Given the description of an element on the screen output the (x, y) to click on. 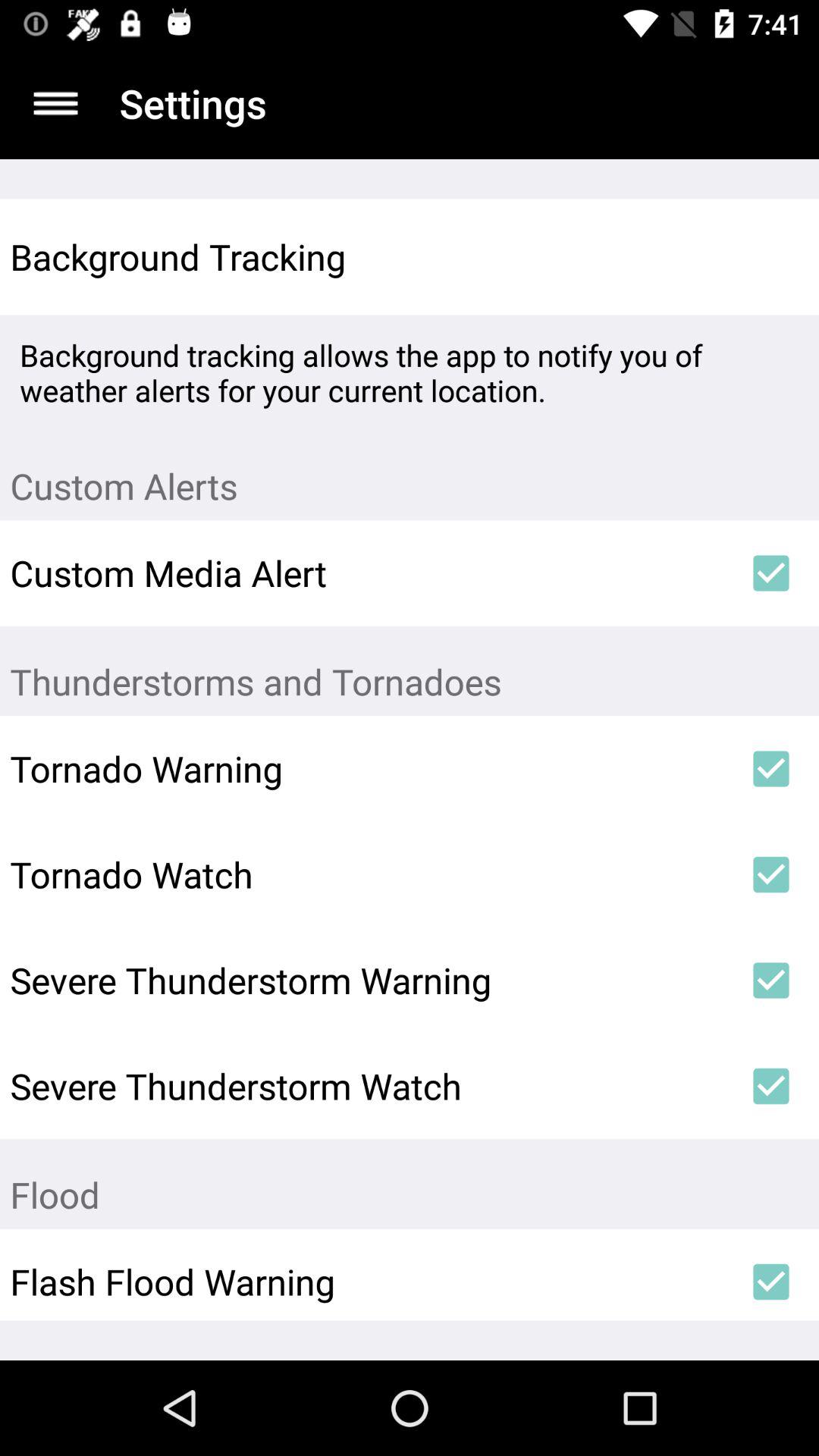
see menu (55, 103)
